Given the description of an element on the screen output the (x, y) to click on. 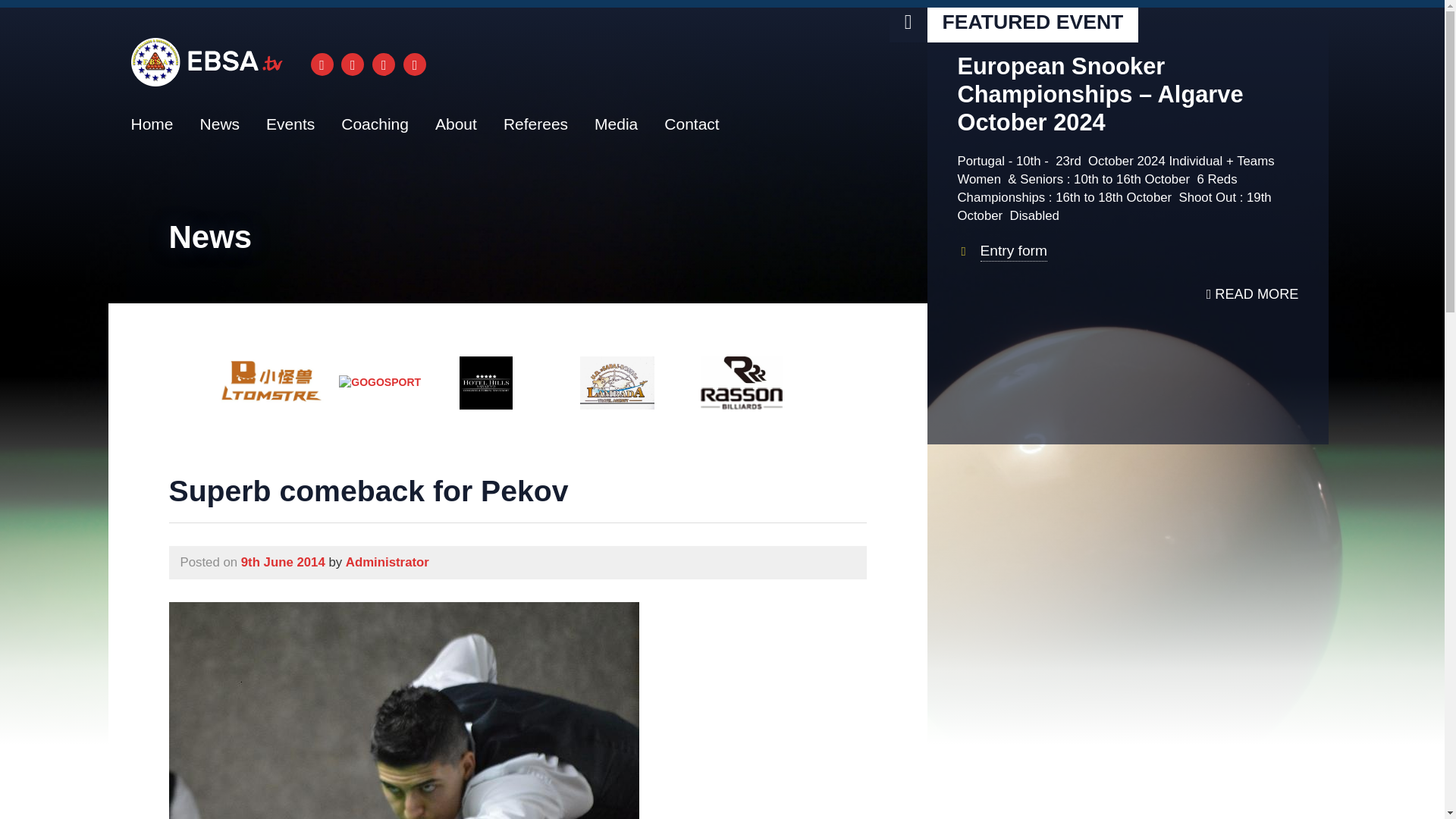
1:07 pm (282, 562)
View all posts by Administrator (387, 562)
